Given the description of an element on the screen output the (x, y) to click on. 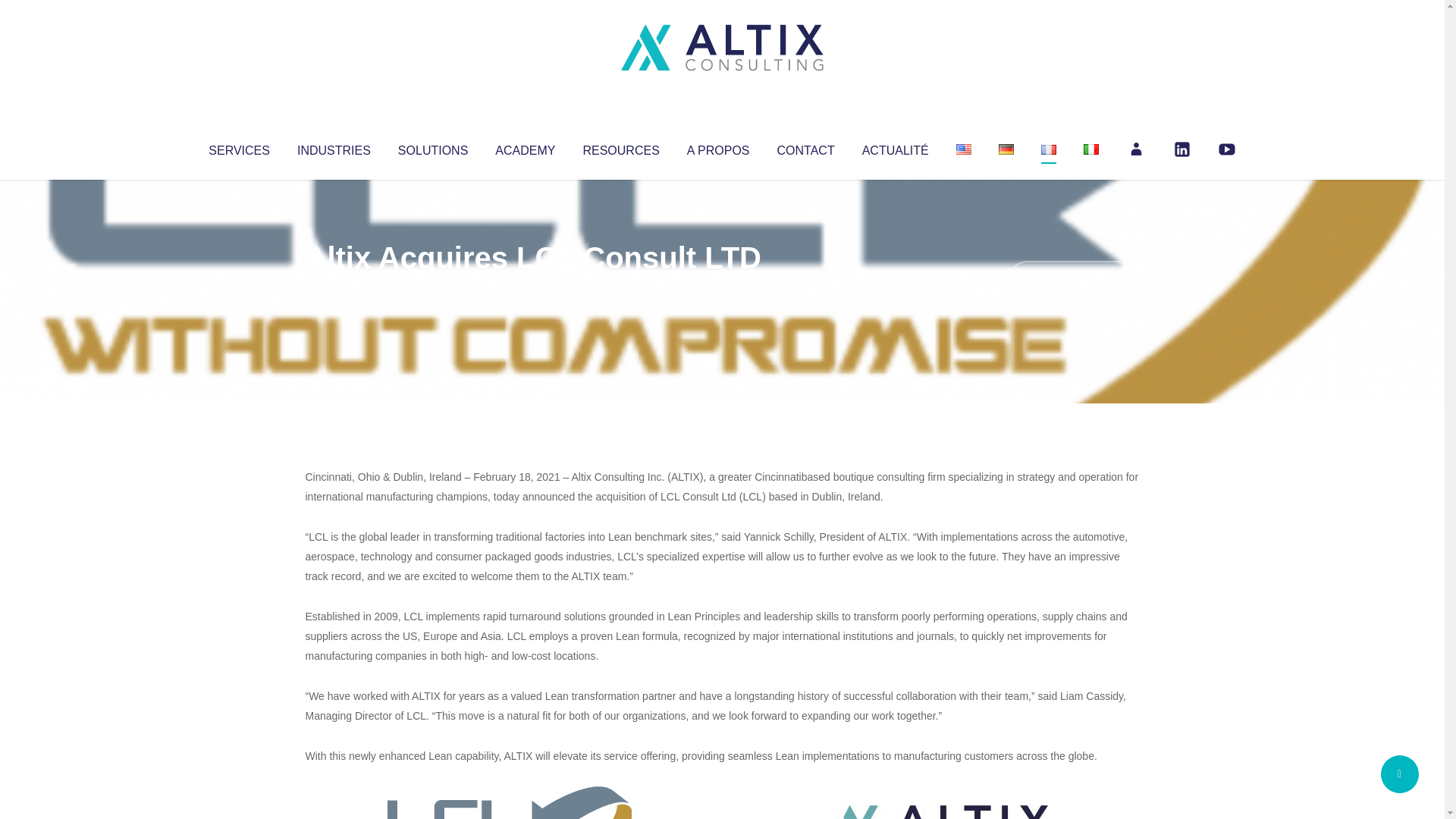
A PROPOS (718, 146)
SOLUTIONS (432, 146)
ACADEMY (524, 146)
RESOURCES (620, 146)
SERVICES (238, 146)
Altix (333, 287)
No Comments (1073, 278)
Articles par Altix (333, 287)
INDUSTRIES (334, 146)
Uncategorized (530, 287)
